Given the description of an element on the screen output the (x, y) to click on. 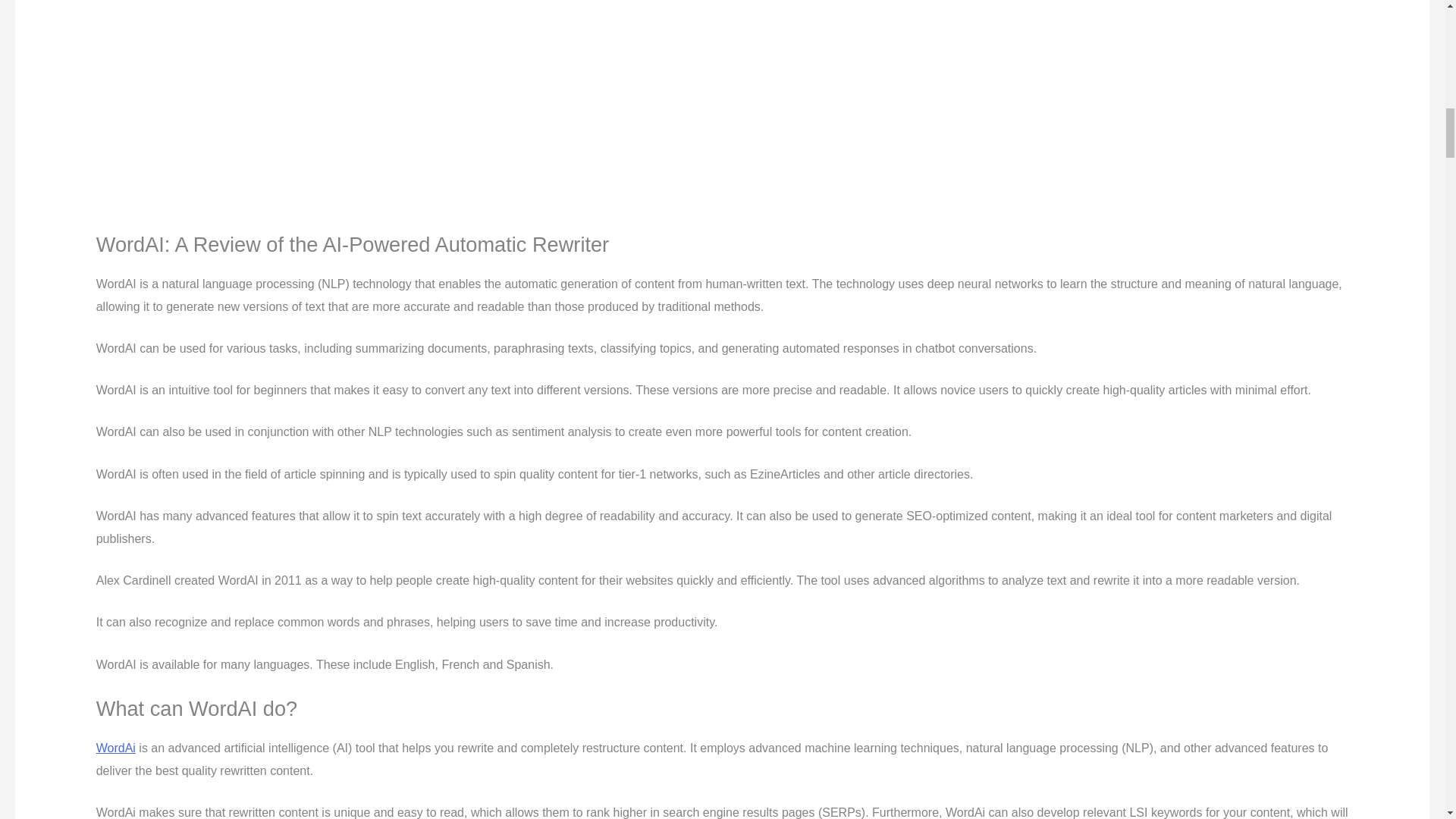
YouTube video player (308, 101)
WordAi (115, 748)
